Given the description of an element on the screen output the (x, y) to click on. 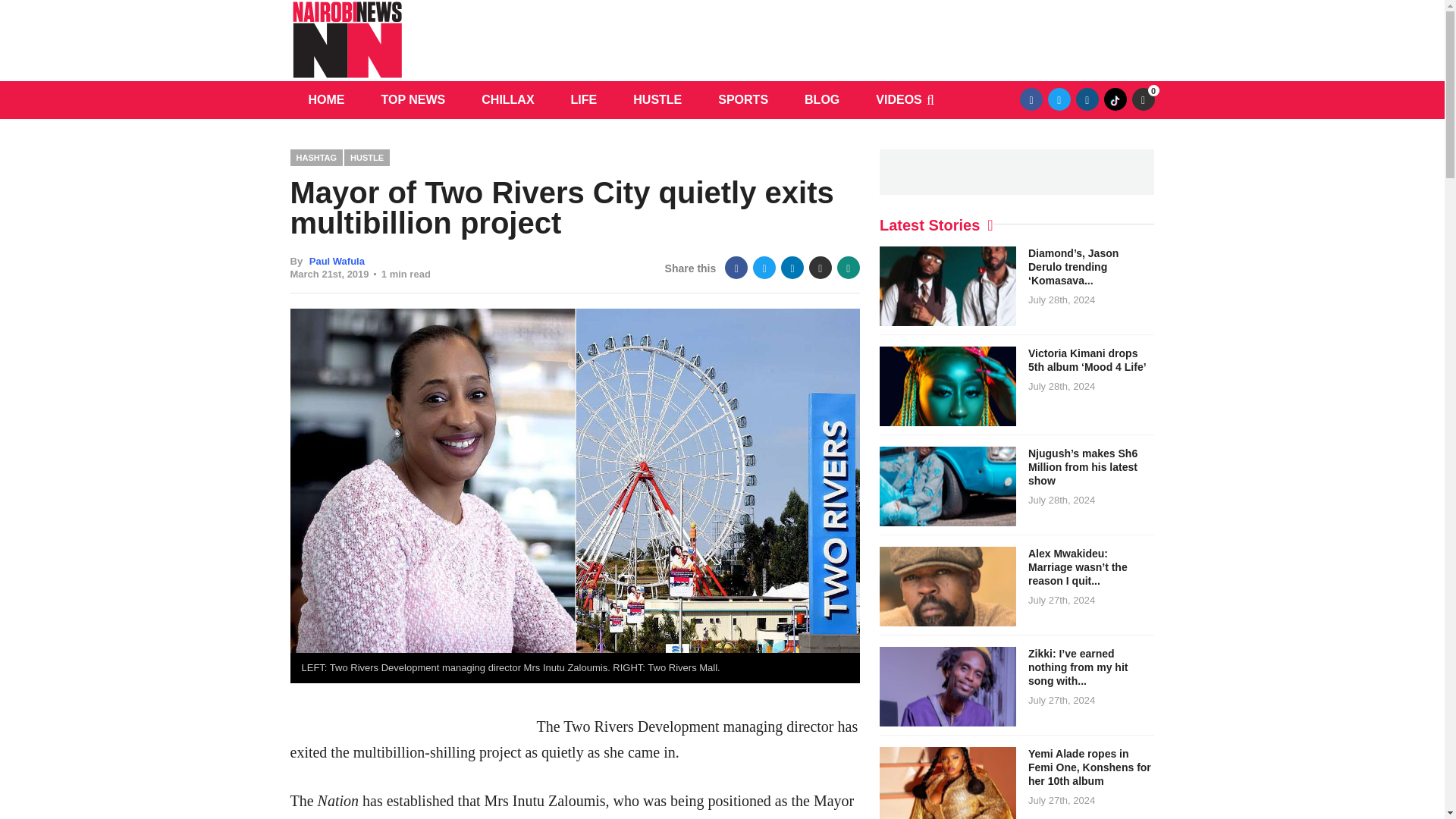
Email (820, 267)
Twitter (764, 267)
BLOG (821, 99)
WhatsApp (848, 267)
Twitter (1059, 98)
HOME (325, 99)
TOP NEWS (412, 99)
Instagram (1087, 98)
Facebook (736, 267)
HUSTLE (657, 99)
TikTok (1114, 98)
Facebook (1031, 98)
LIFE (584, 99)
SPORTS (743, 99)
Updates made in the last 20 minutes (1142, 98)
